Given the description of an element on the screen output the (x, y) to click on. 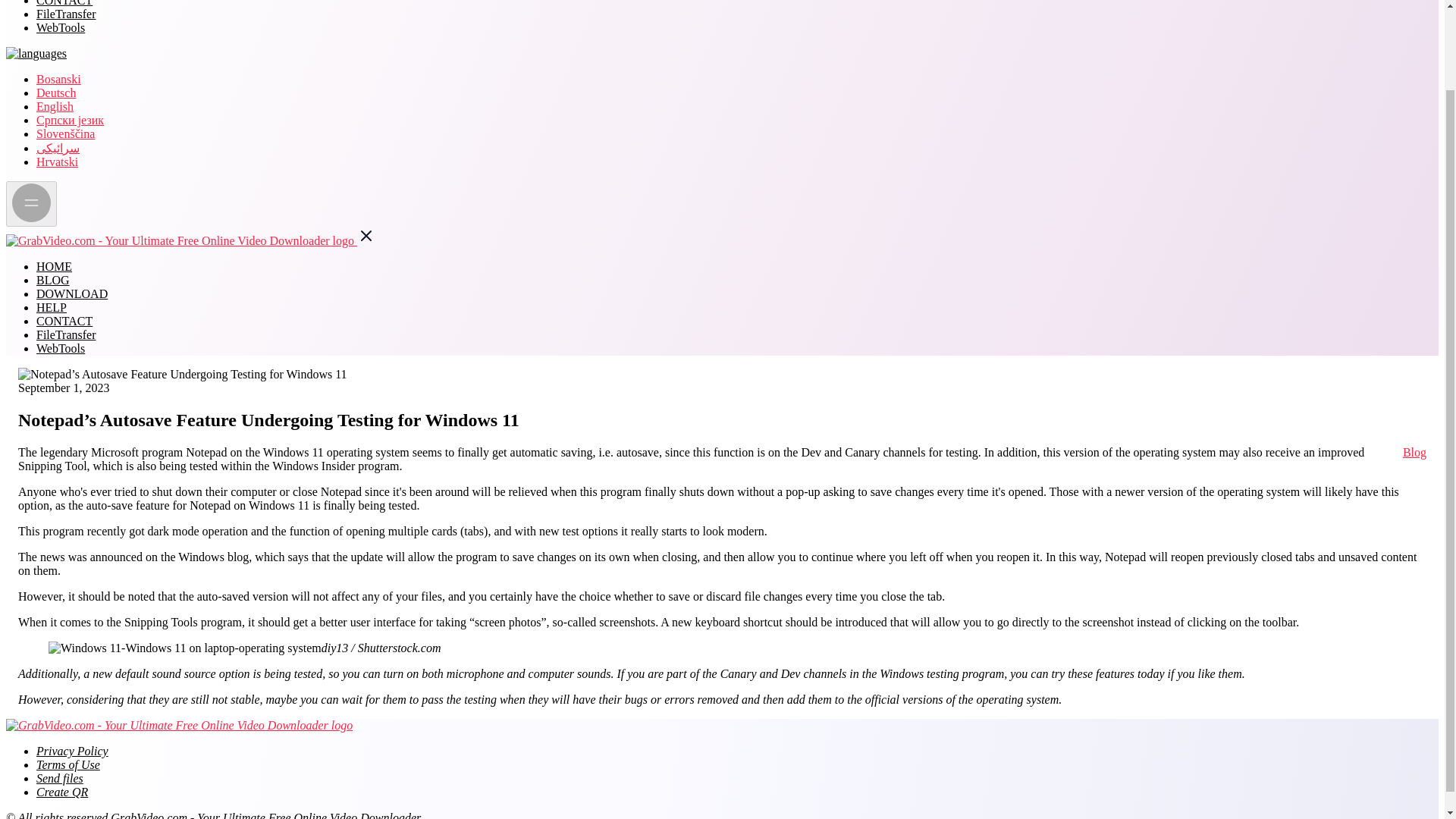
Terms of Use (68, 764)
HELP (51, 307)
Bosanski (58, 78)
WebTools (60, 348)
WebTools (60, 27)
Hrvatski (57, 161)
Send files (59, 778)
Deutsch (55, 92)
Blog (1414, 452)
DOWNLOAD (71, 293)
